Given the description of an element on the screen output the (x, y) to click on. 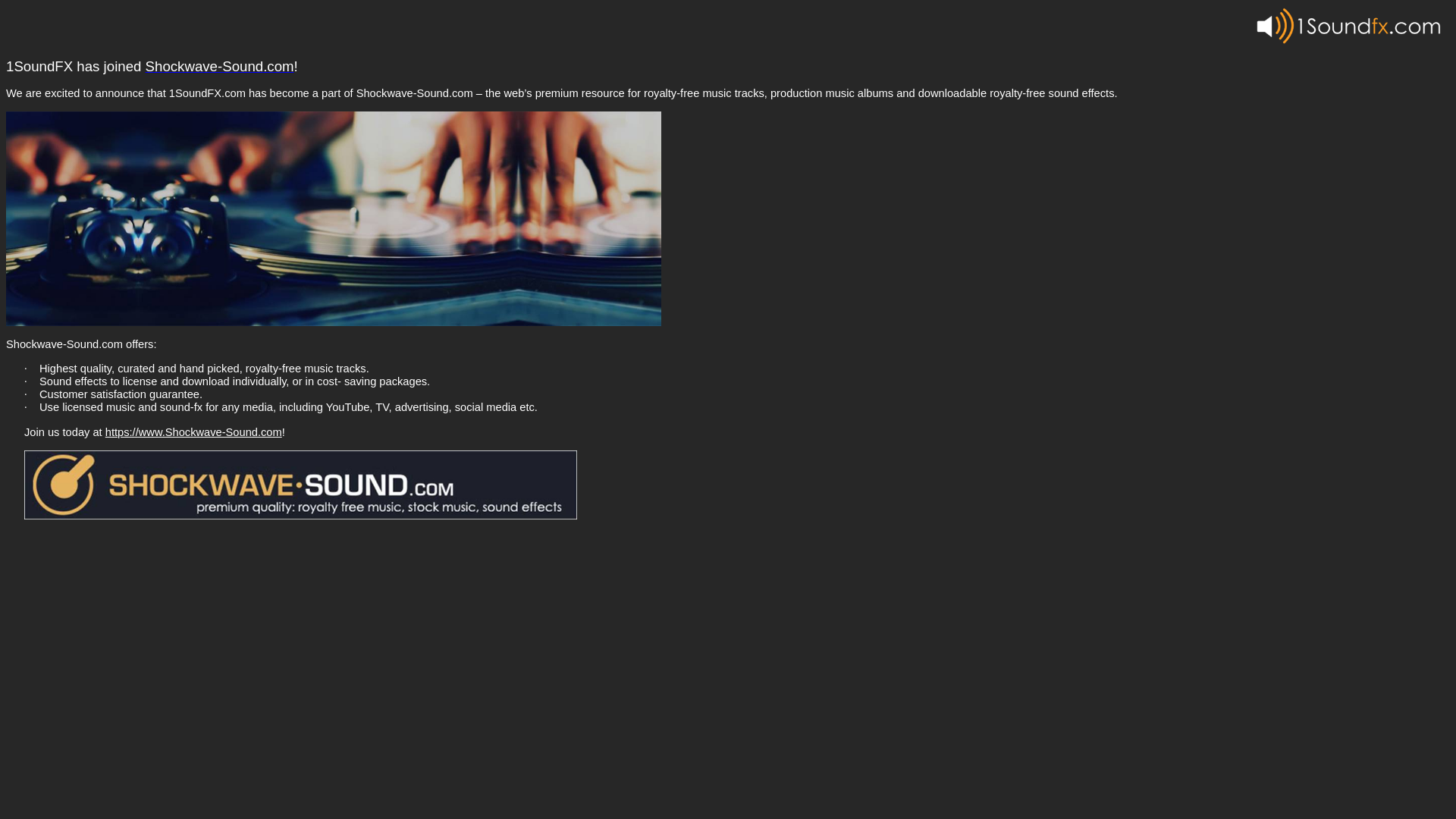
https://www.Shockwave-Sound.com Element type: text (193, 432)
Shockwave-Sound.com Element type: text (219, 67)
